Given the description of an element on the screen output the (x, y) to click on. 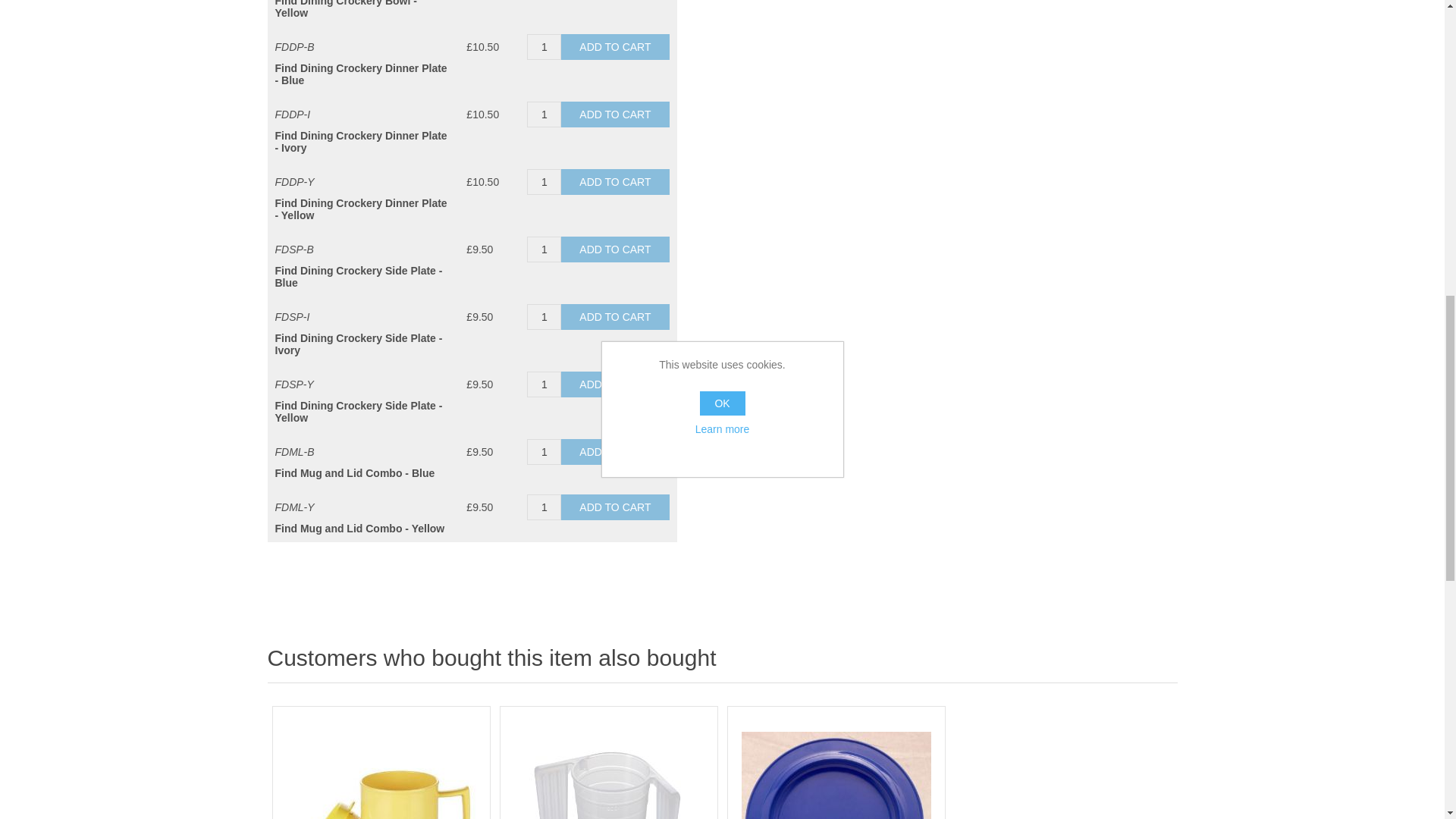
Find Dining Crockery Dinner Plate - Blue (836, 775)
BS-BEA002.jpg (608, 775)
1 (543, 46)
1 (543, 114)
1 (543, 384)
BS-BEA002.jpg (608, 768)
1 (543, 249)
Find Mug and Lid Combo - Yellow (381, 768)
Find Mug and Lid Combo - Yellow (381, 775)
1 (543, 181)
